Given the description of an element on the screen output the (x, y) to click on. 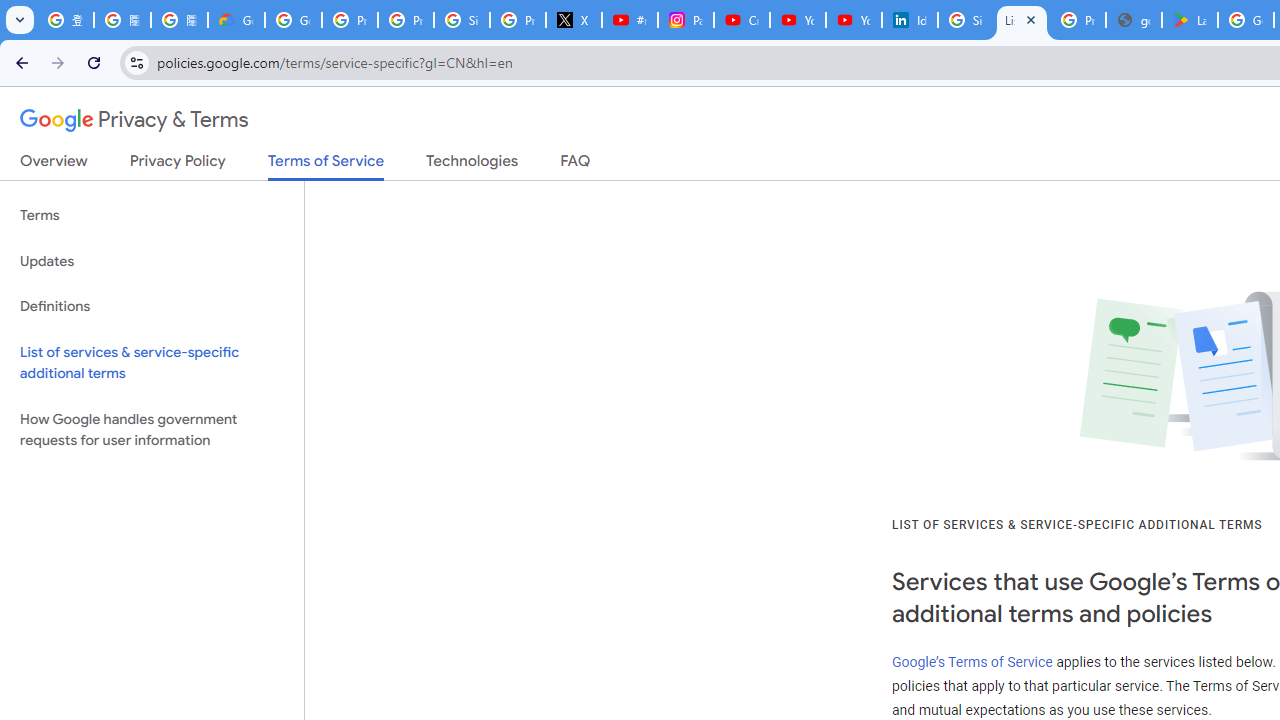
X (573, 20)
google_privacy_policy_en.pdf (1133, 20)
#nbabasketballhighlights - YouTube (629, 20)
Privacy Help Center - Policies Help (405, 20)
